Given the description of an element on the screen output the (x, y) to click on. 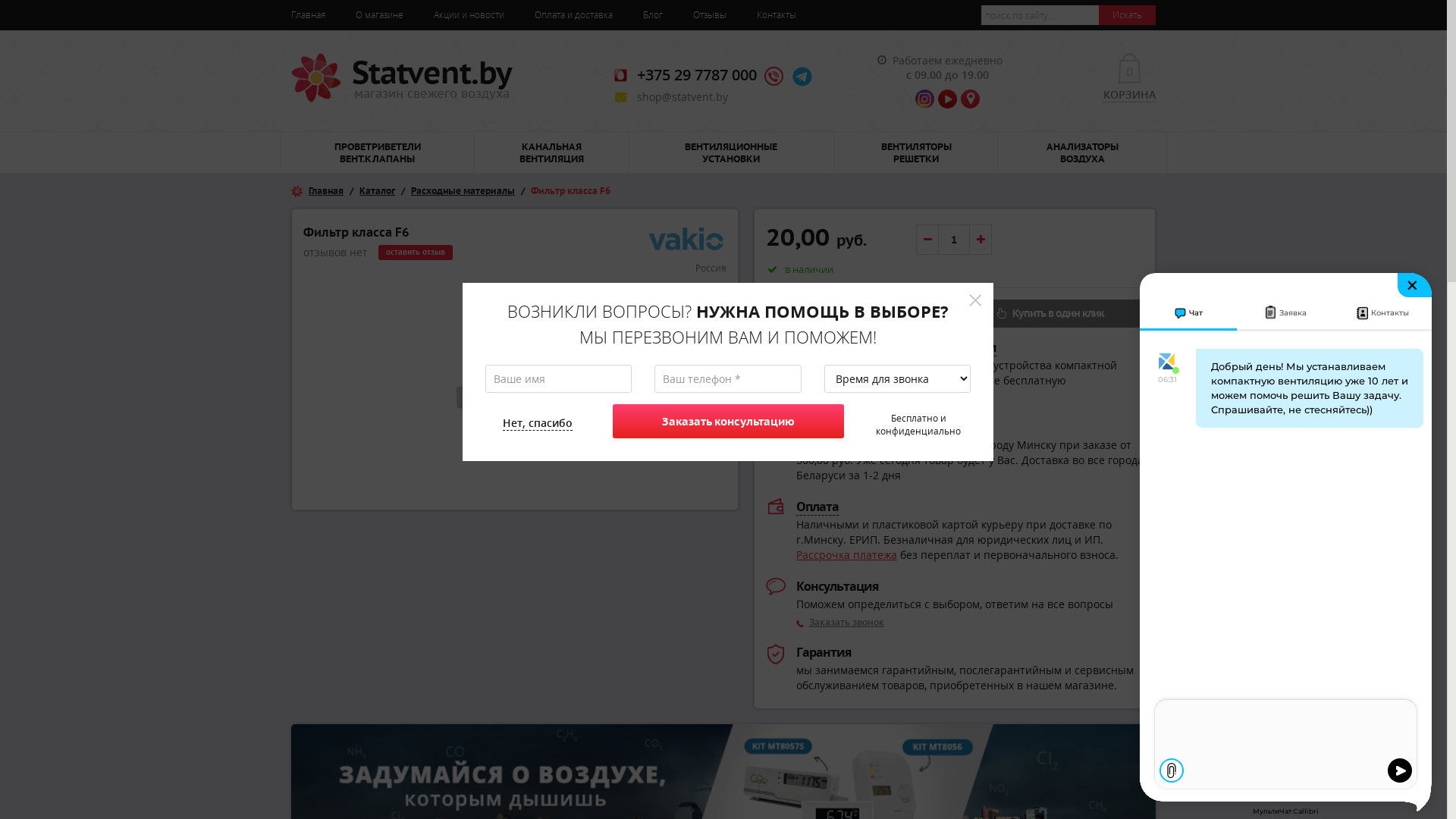
shop@statvent.by Element type: text (682, 96)
+375 29 7787 000 Element type: text (696, 74)
